Given the description of an element on the screen output the (x, y) to click on. 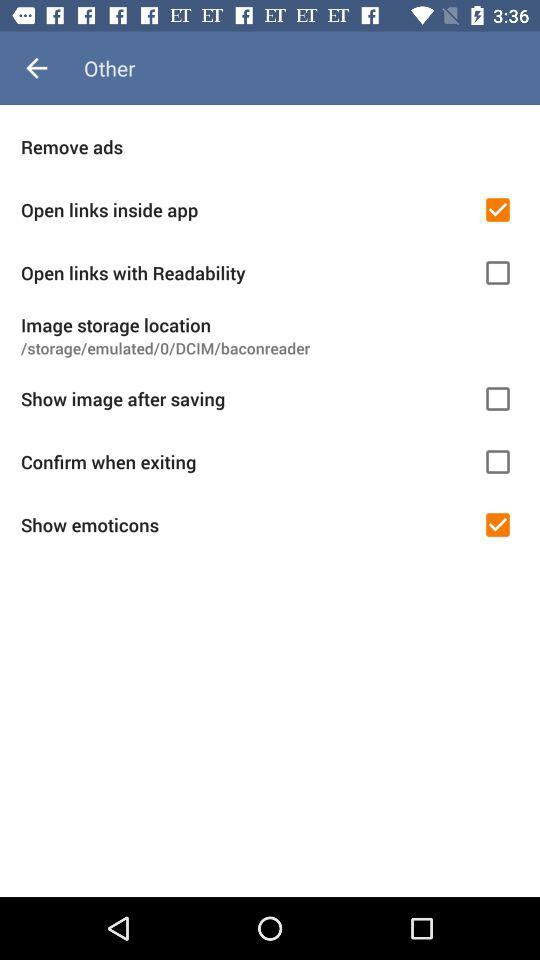
jump to remove ads (270, 146)
